Given the description of an element on the screen output the (x, y) to click on. 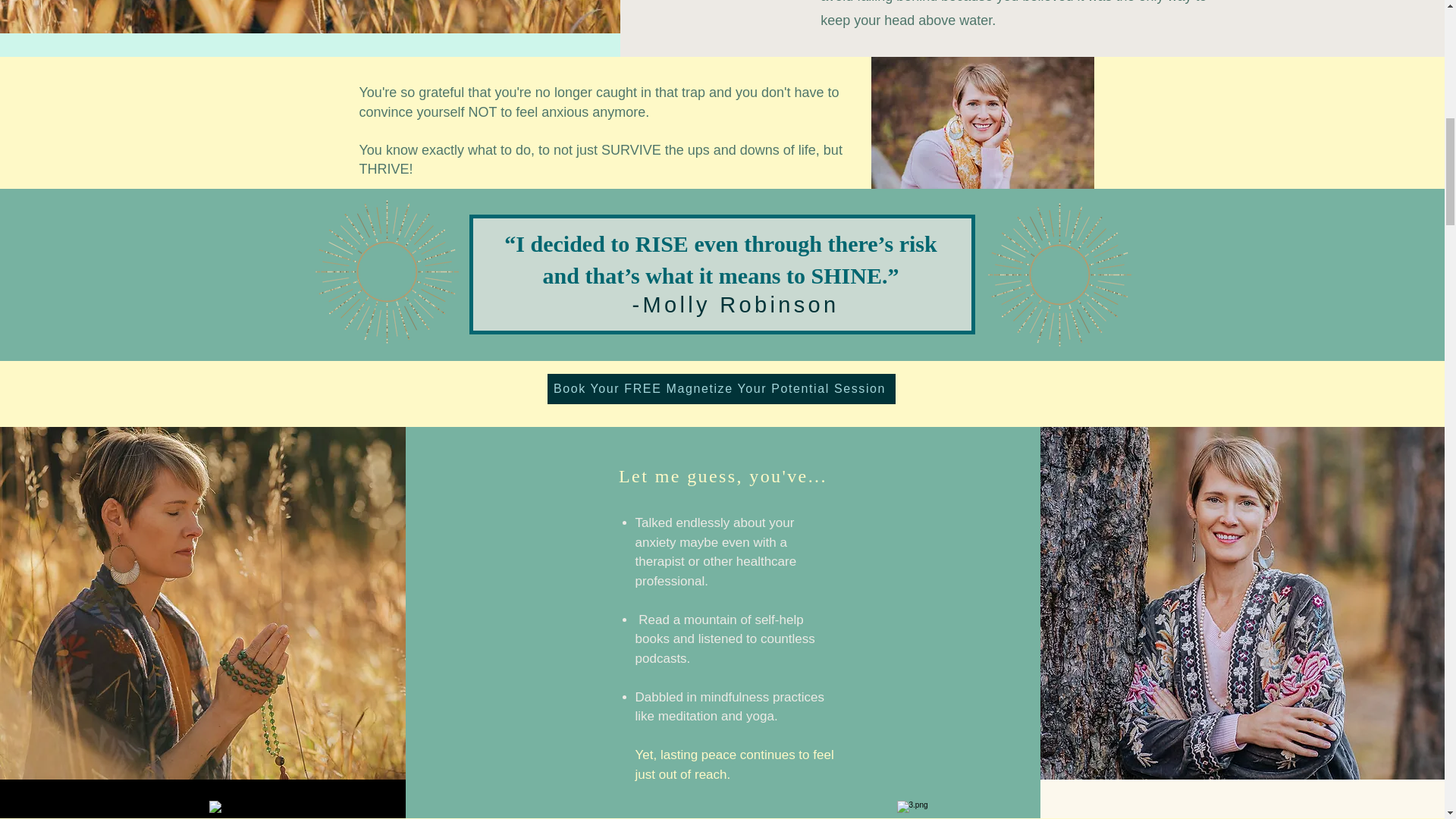
Book Your FREE Magnetize Your Potential Session (721, 388)
